Given the description of an element on the screen output the (x, y) to click on. 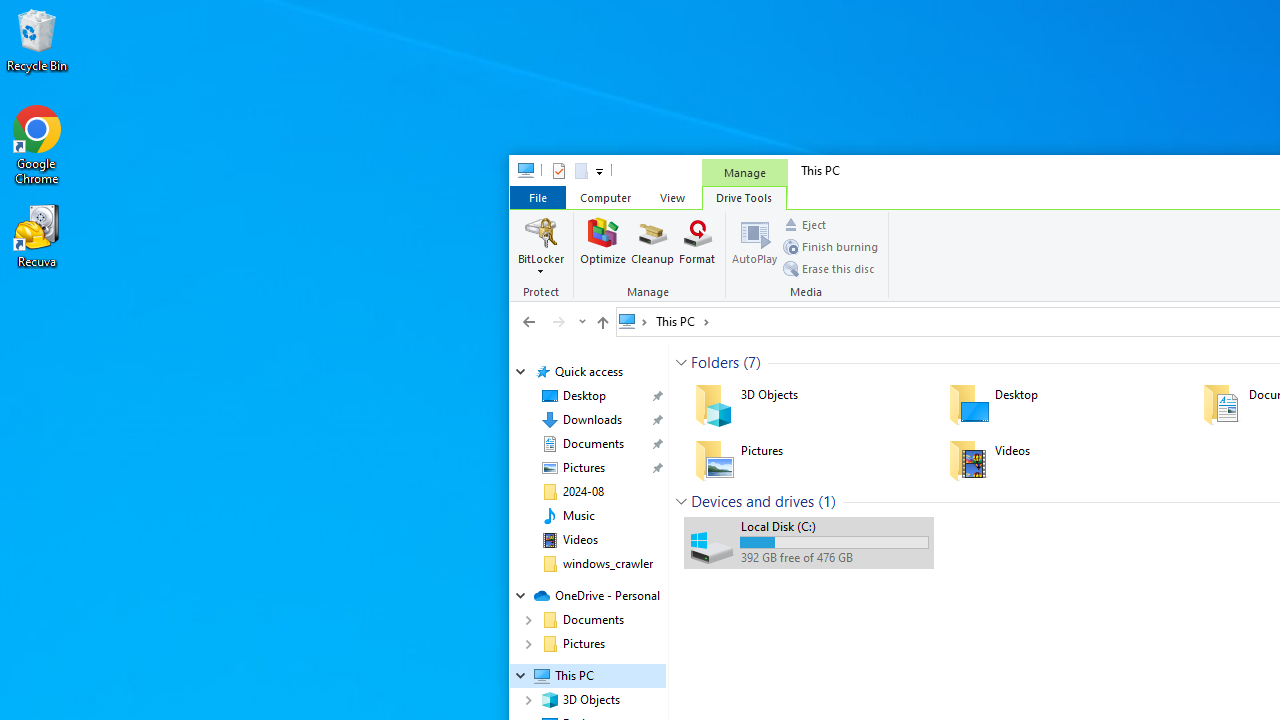
This PC (682, 321)
All locations (633, 321)
Manage (744, 172)
Quick access (588, 371)
